Given the description of an element on the screen output the (x, y) to click on. 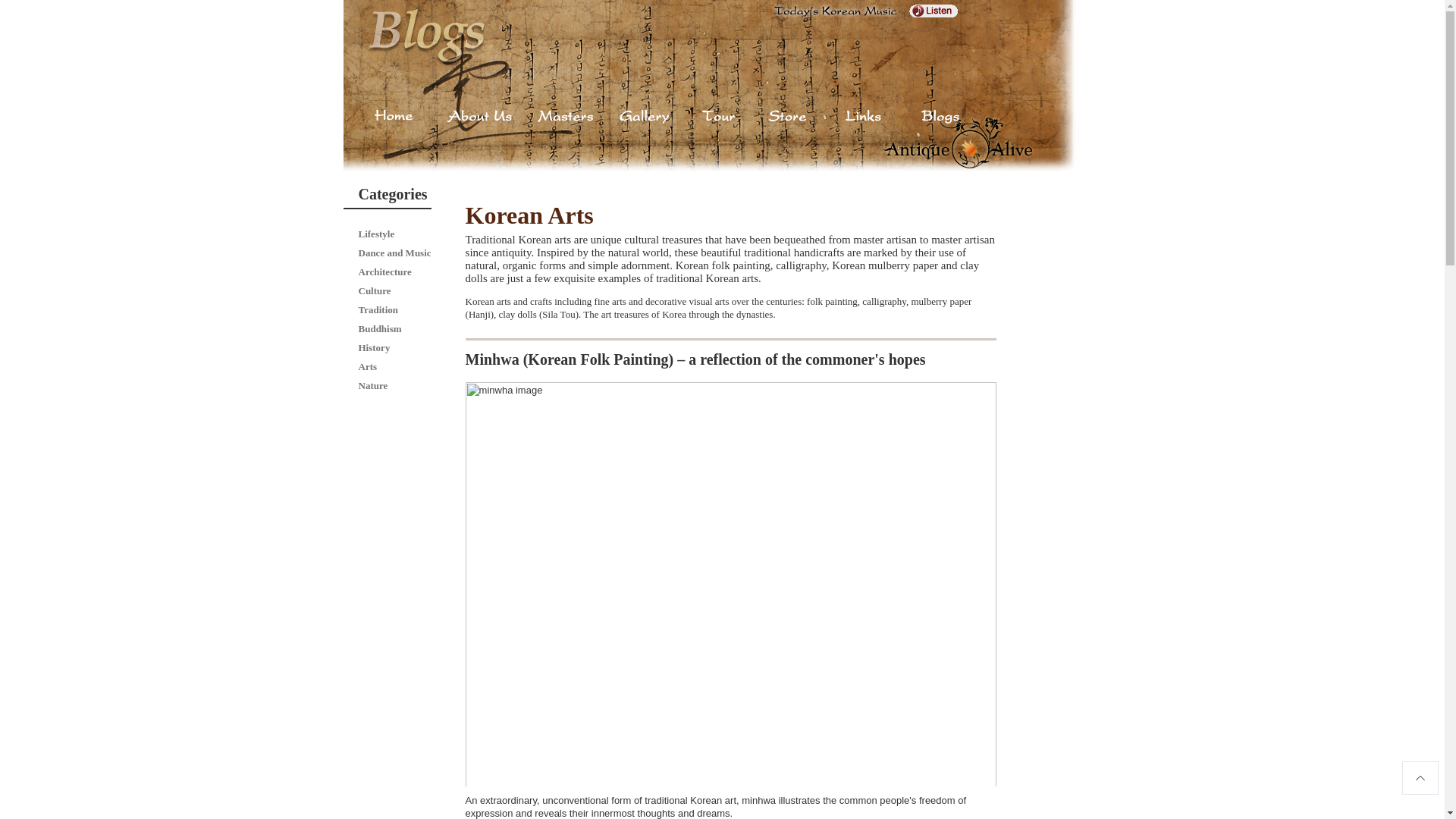
Buddhism (379, 328)
Dance and Music (394, 252)
Lifestyle (376, 233)
Arts (367, 366)
Nature (372, 385)
History (374, 347)
Tradition (377, 309)
Culture (374, 290)
Architecture (384, 271)
